Given the description of an element on the screen output the (x, y) to click on. 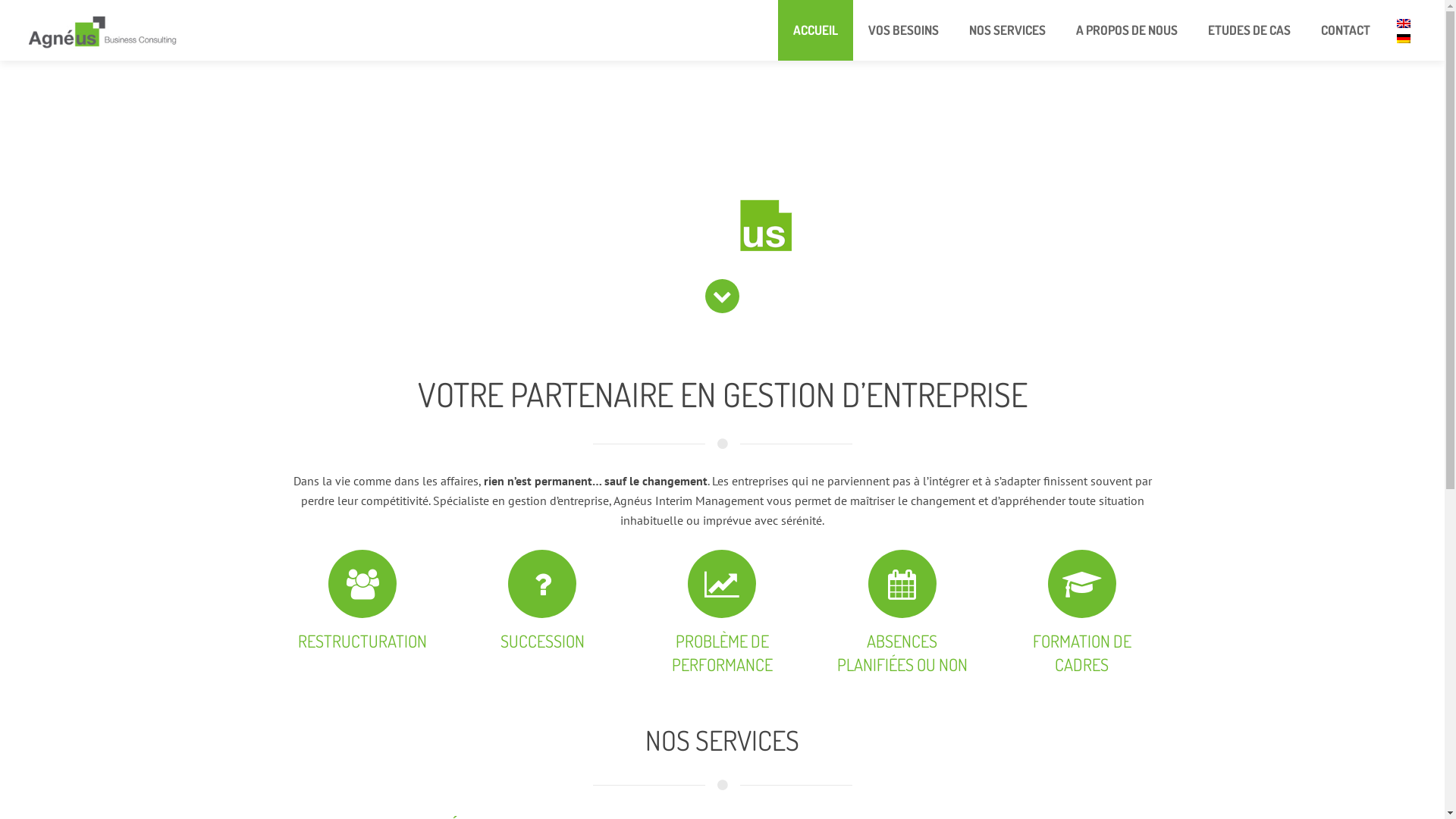
FORMATION DE CADRES Element type: text (1081, 617)
ETUDES DE CAS Element type: text (1248, 30)
RESTRUCTURATION Element type: text (362, 617)
leif@agneus.ch Element type: text (957, 657)
VOS BESOINS Element type: text (903, 30)
NETmanage Element type: text (781, 791)
ACCUEIL Element type: text (815, 30)
SUCCESSION Element type: text (542, 617)
A PROPOS DE NOUS Element type: text (1126, 30)
English Element type: text (1404, 26)
CONTACT Element type: text (1345, 30)
Deutsch Element type: text (1404, 41)
NOS SERVICES Element type: text (1006, 30)
gabriella@agneus.ch Element type: text (672, 657)
